Given the description of an element on the screen output the (x, y) to click on. 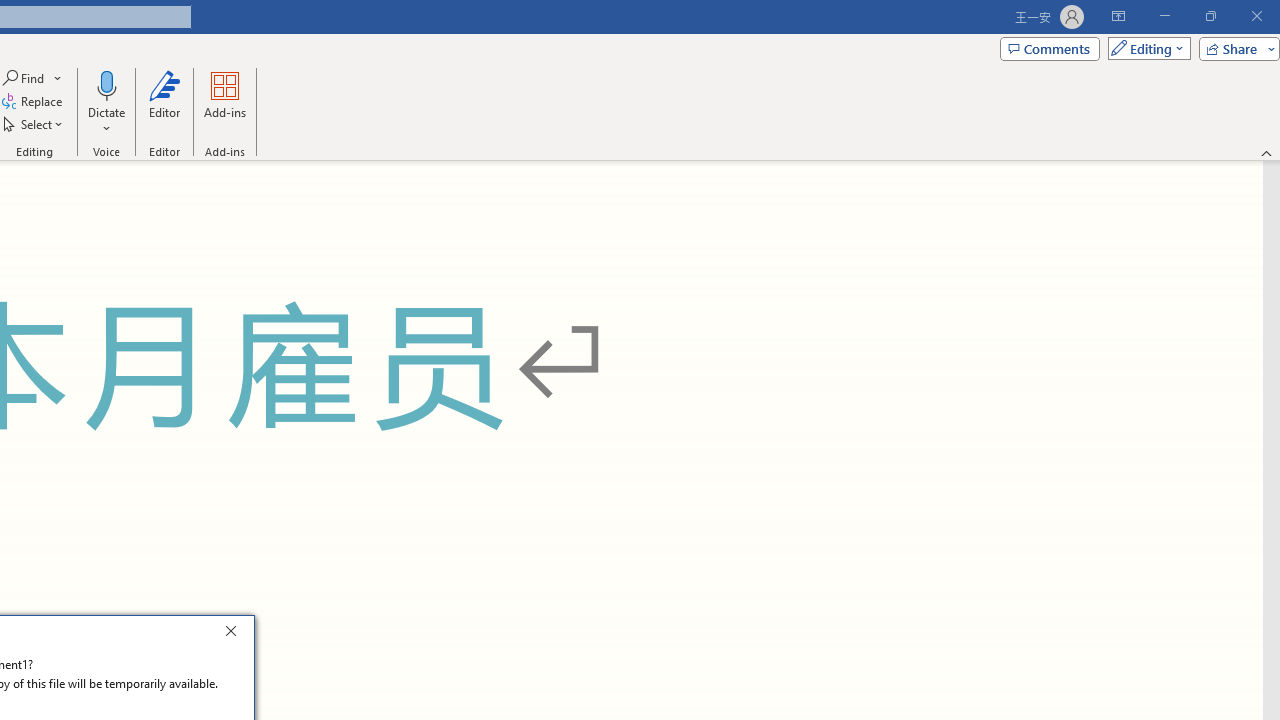
Editing (1144, 47)
